Given the description of an element on the screen output the (x, y) to click on. 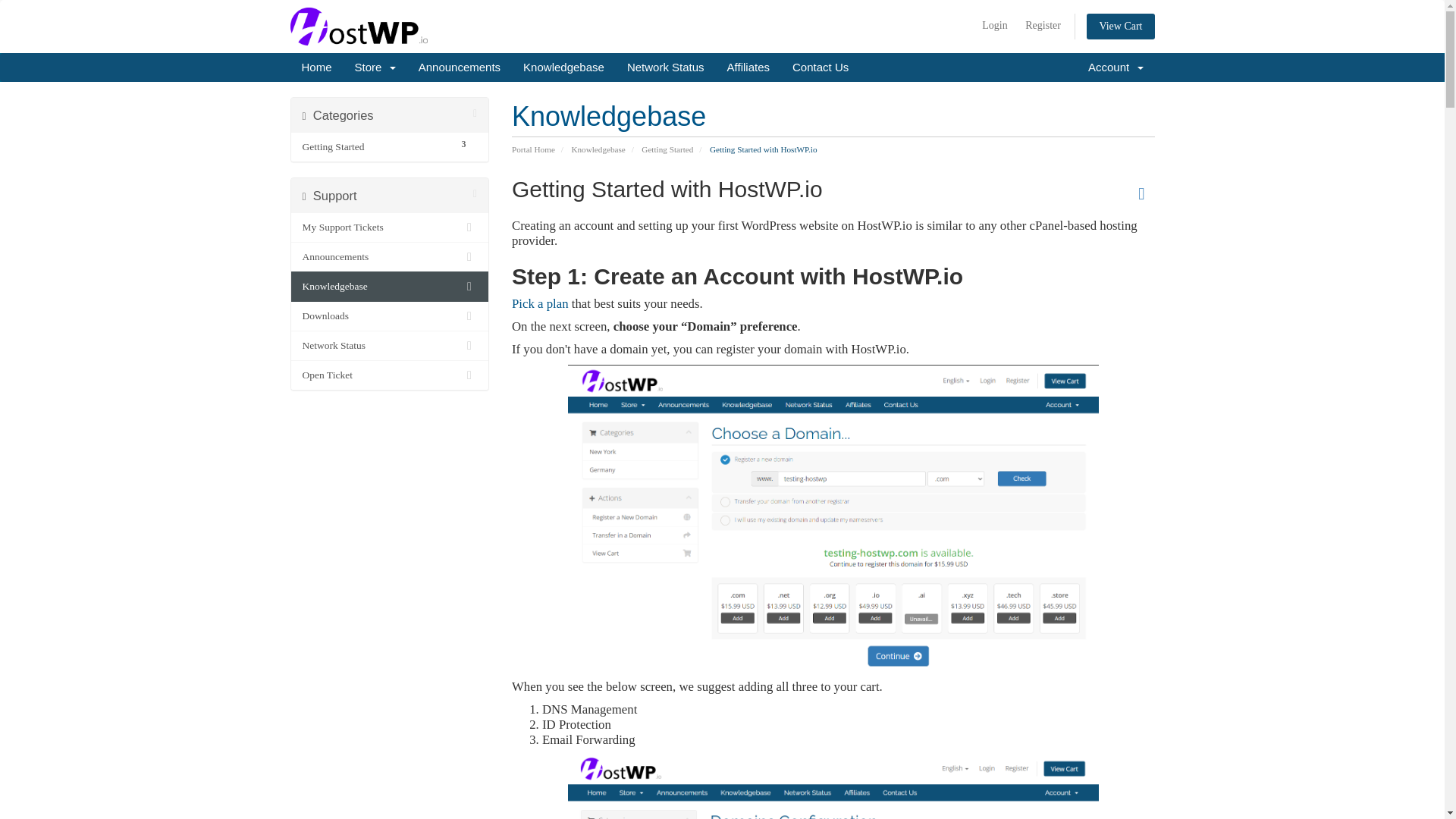
Announcements (390, 256)
Getting Started (375, 147)
View Cart (390, 146)
Pick a plan (1120, 26)
Register (540, 303)
Affiliates (1042, 25)
Announcements (748, 67)
Getting Started (459, 67)
Home (667, 148)
